Given the description of an element on the screen output the (x, y) to click on. 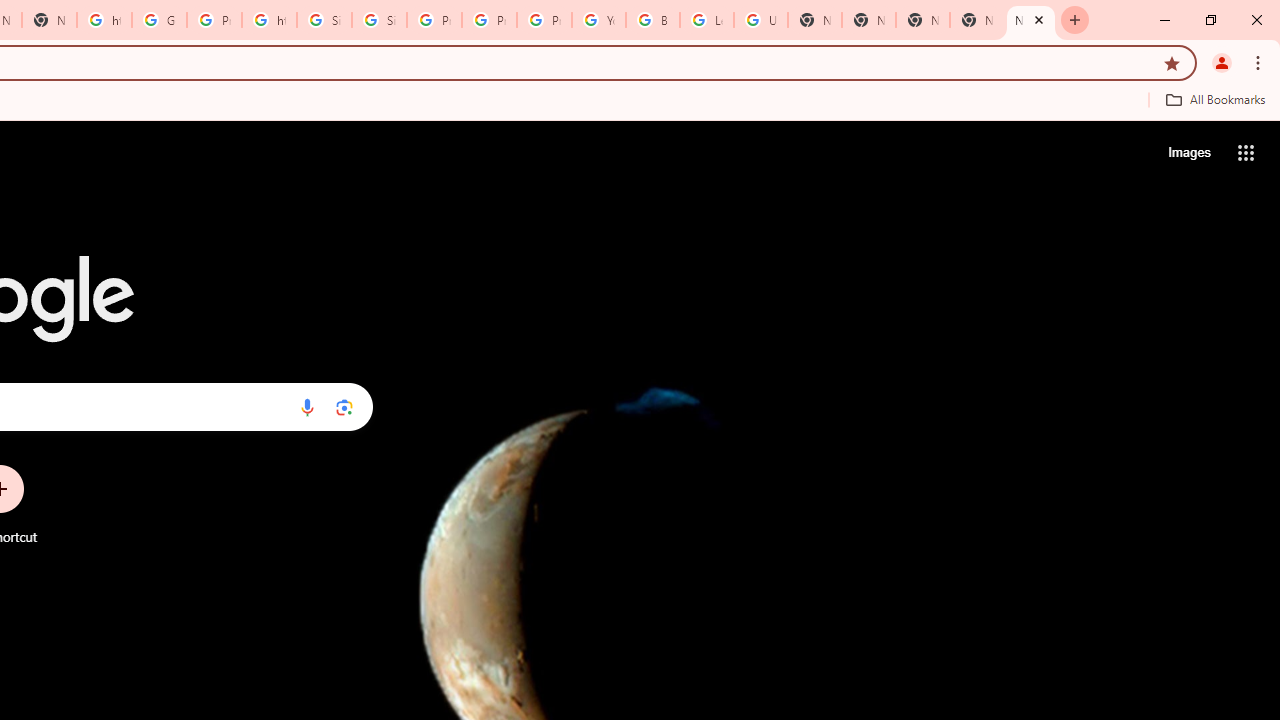
Privacy Help Center - Policies Help (489, 20)
https://scholar.google.com/ (103, 20)
New Tab (868, 20)
Search by image (344, 407)
All Bookmarks (1215, 99)
Sign in - Google Accounts (379, 20)
YouTube (598, 20)
Privacy Help Center - Policies Help (434, 20)
New Tab (922, 20)
